Given the description of an element on the screen output the (x, y) to click on. 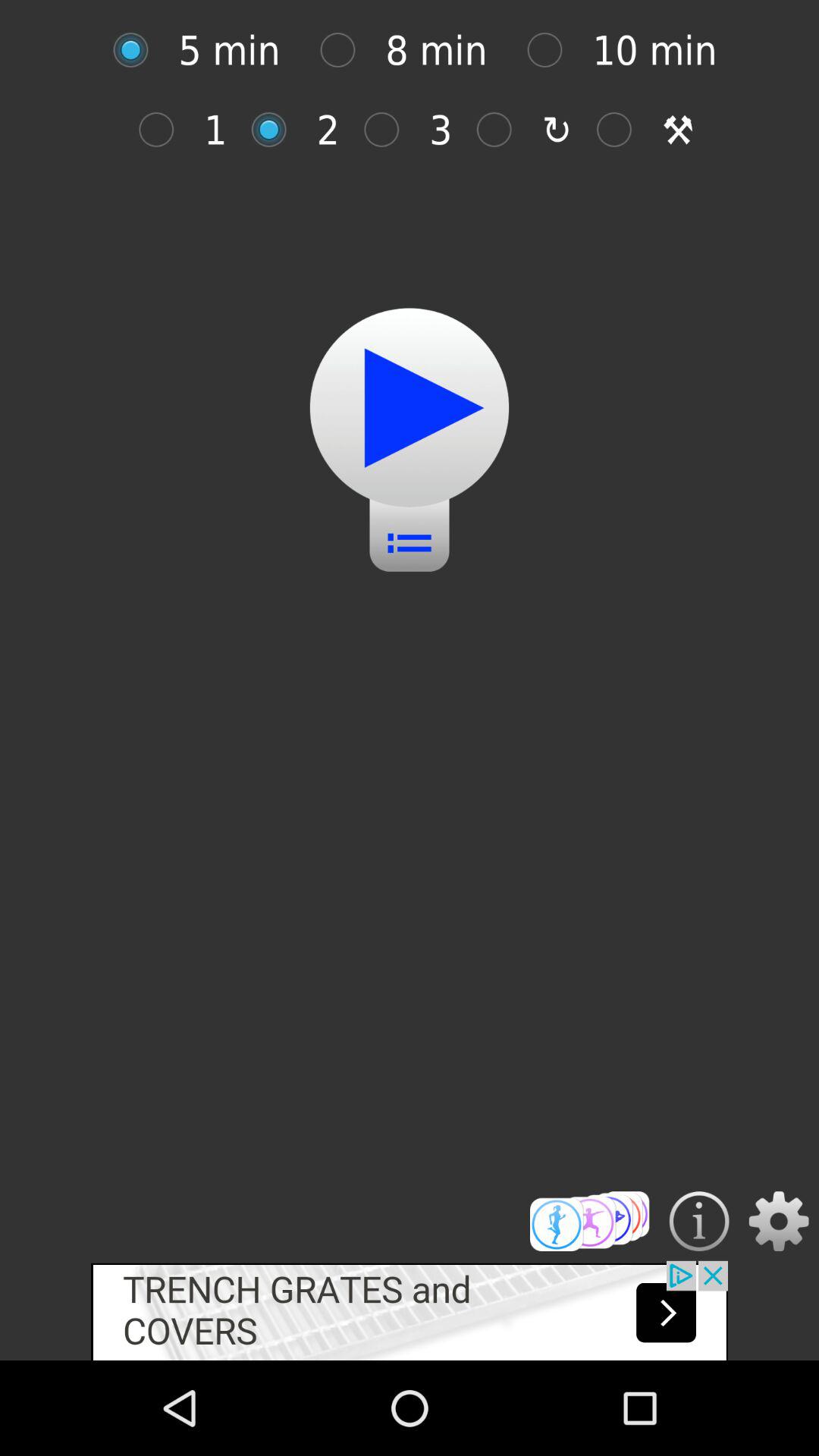
go to play (138, 49)
